Given the description of an element on the screen output the (x, y) to click on. 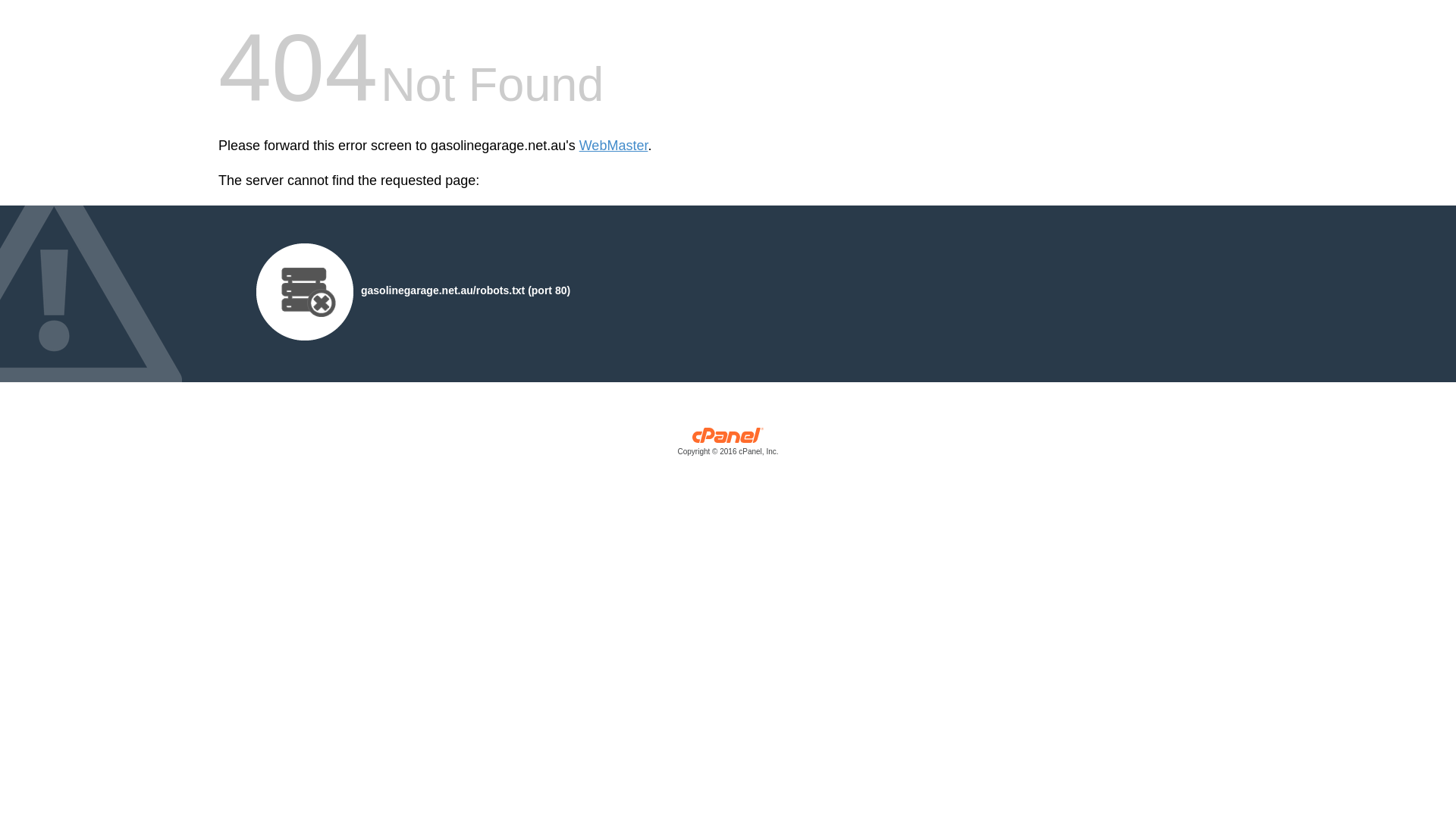
WebMaster Element type: text (613, 145)
